Given the description of an element on the screen output the (x, y) to click on. 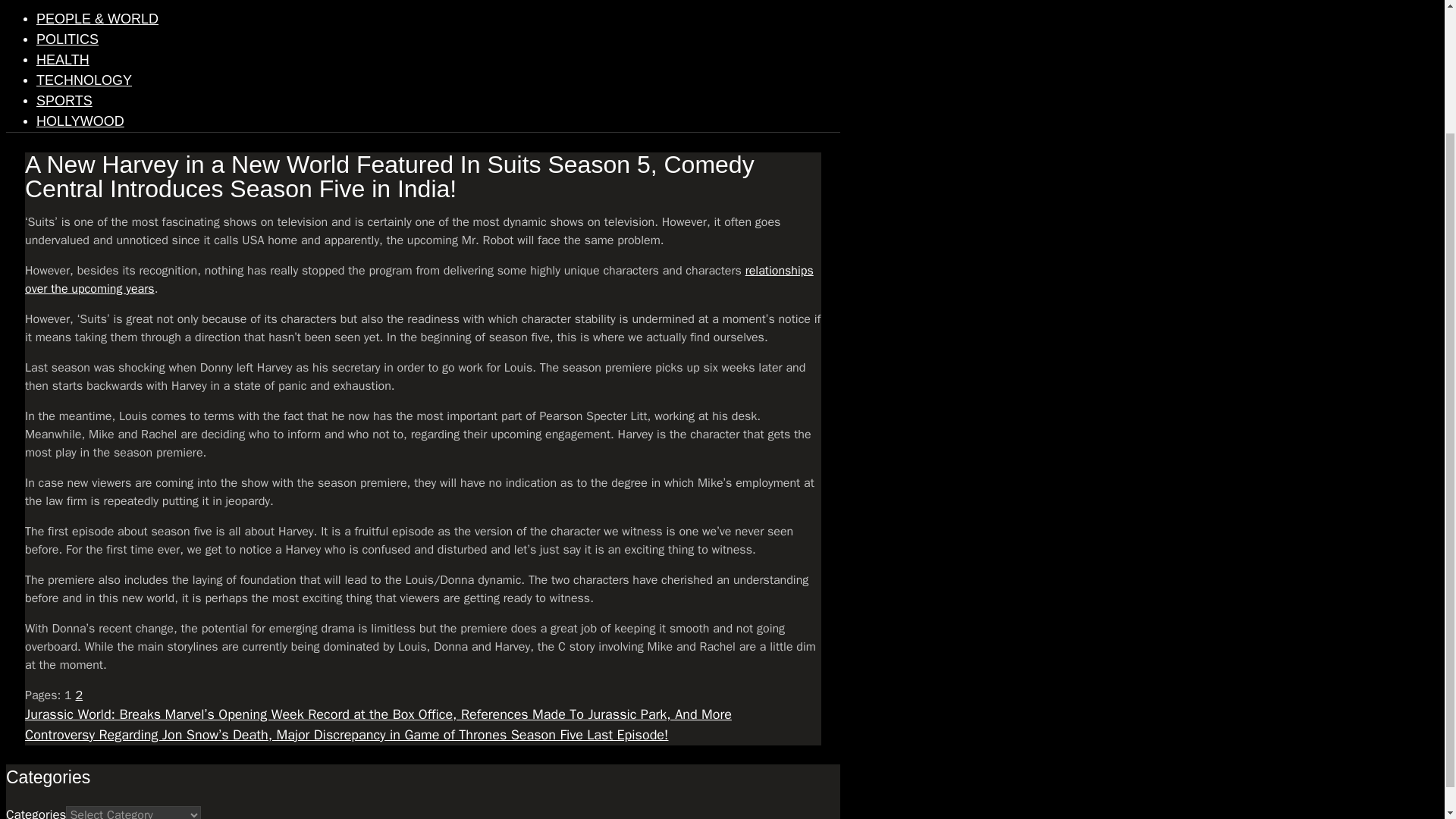
POLITICS (67, 38)
SPORTS (64, 100)
relationships over the upcoming years (418, 279)
HOLLYWOOD (79, 120)
HEALTH (62, 59)
TECHNOLOGY (84, 79)
